Given the description of an element on the screen output the (x, y) to click on. 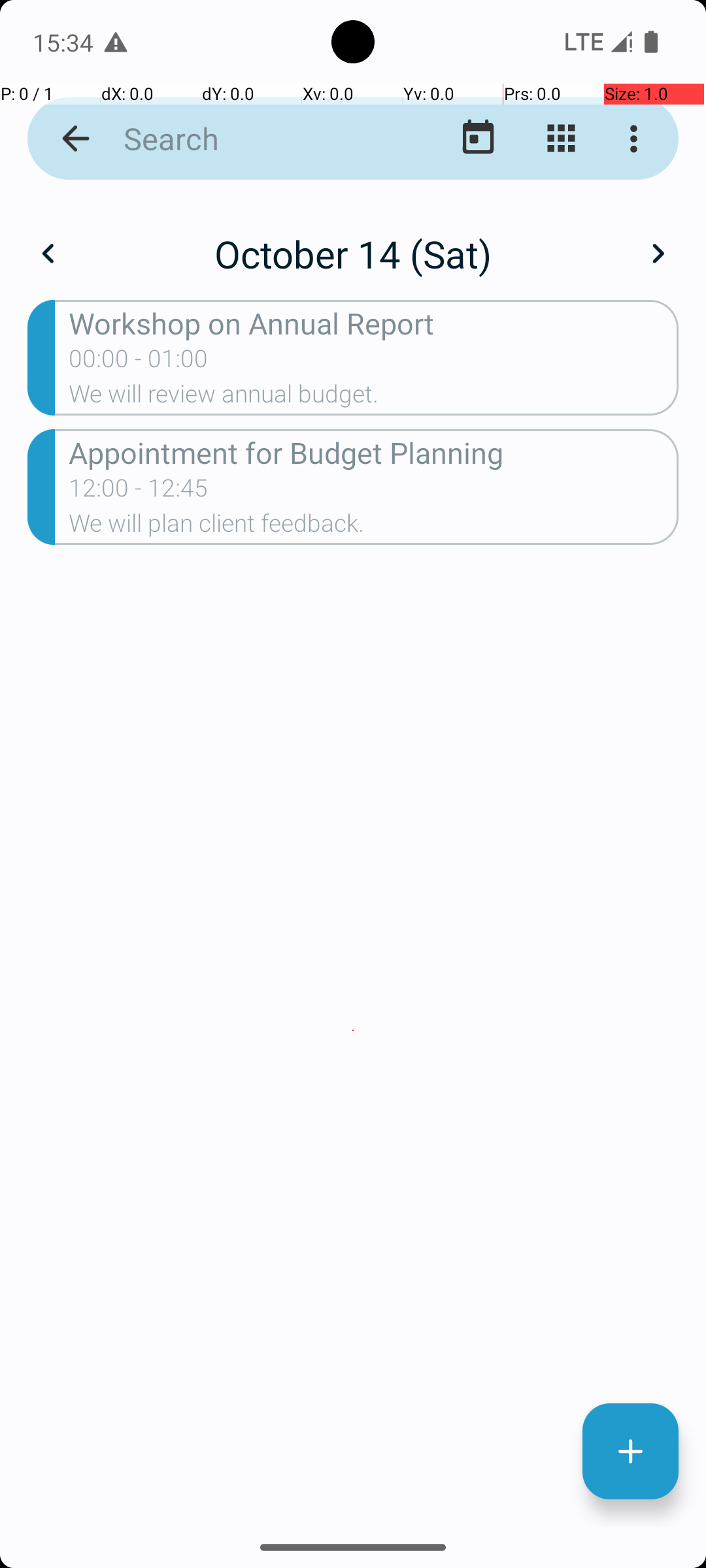
Go to today Element type: android.widget.Button (477, 138)
October 14 (Sat) Element type: android.widget.TextView (352, 253)
October Element type: android.widget.TextView (352, 239)
Workshop on Annual Report Element type: android.widget.TextView (373, 321)
00:00 - 01:00 Element type: android.widget.TextView (137, 362)
We will review annual budget. Element type: android.widget.TextView (373, 397)
Appointment for Budget Planning Element type: android.widget.TextView (373, 451)
12:00 - 12:45 Element type: android.widget.TextView (137, 491)
We will plan client feedback. Element type: android.widget.TextView (373, 526)
